Given the description of an element on the screen output the (x, y) to click on. 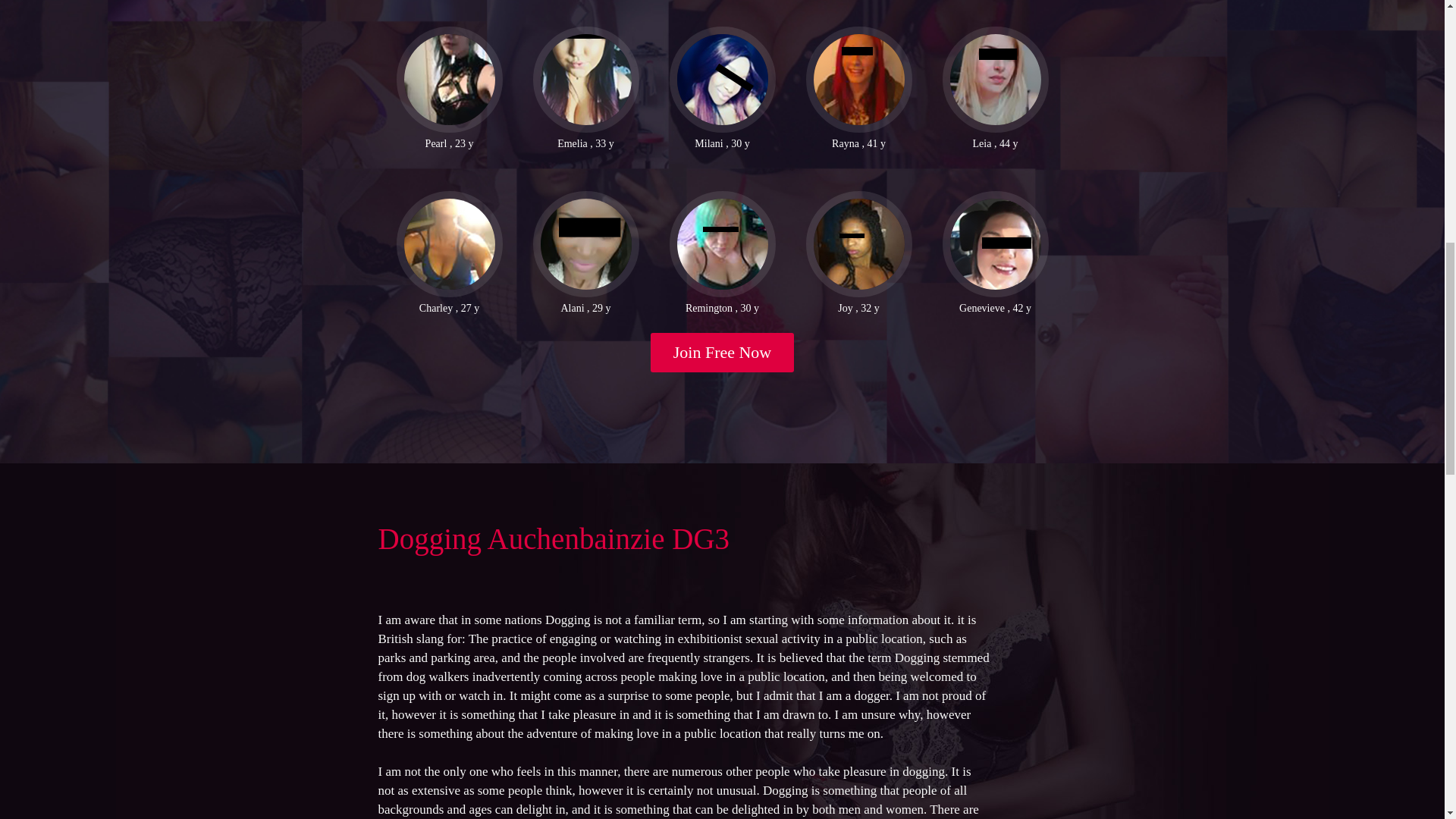
Dogging Auchenbainzie DG3 (553, 538)
Join Free Now (722, 352)
Join (722, 352)
